Given the description of an element on the screen output the (x, y) to click on. 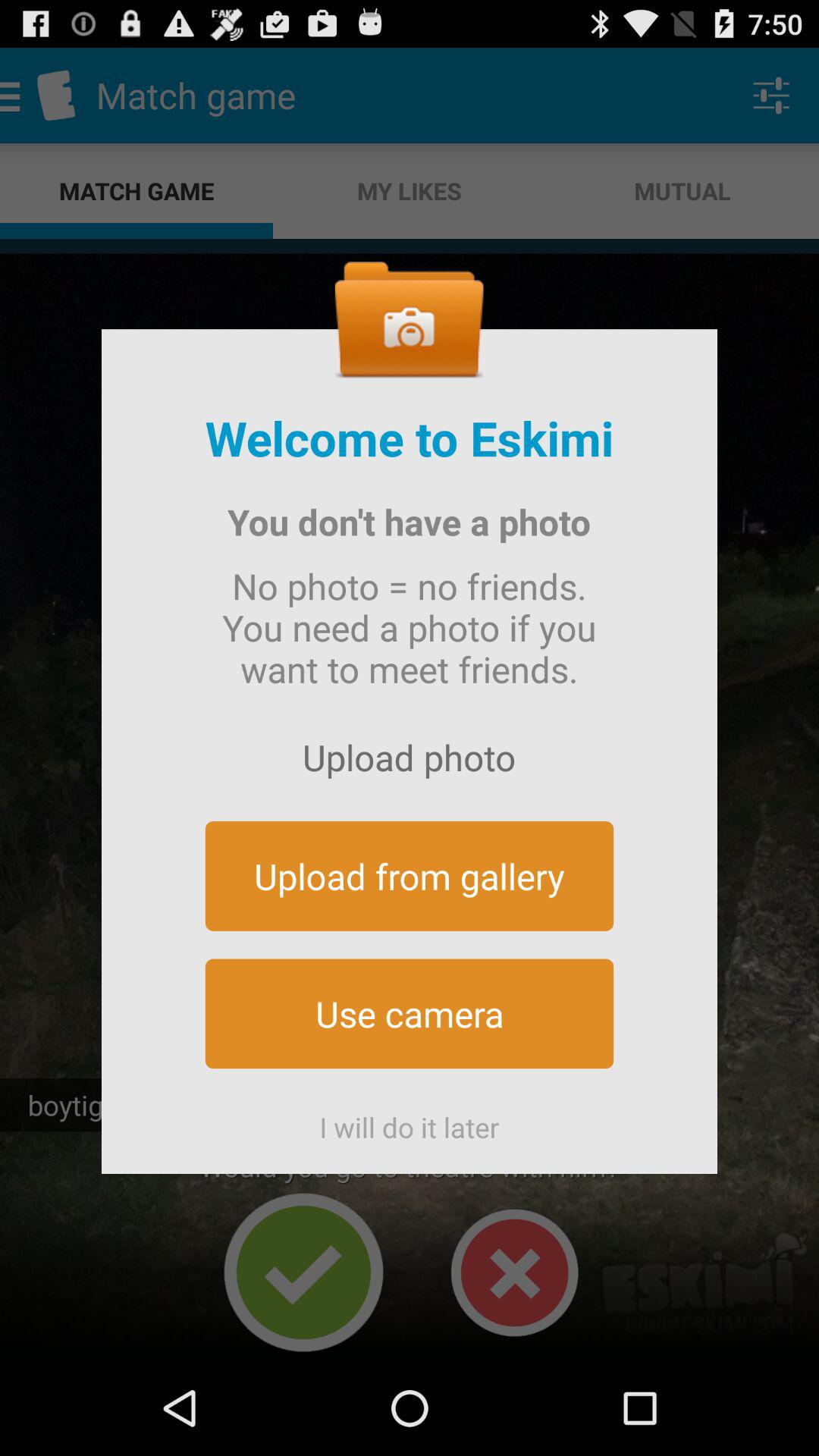
tap button above the use camera icon (409, 876)
